Given the description of an element on the screen output the (x, y) to click on. 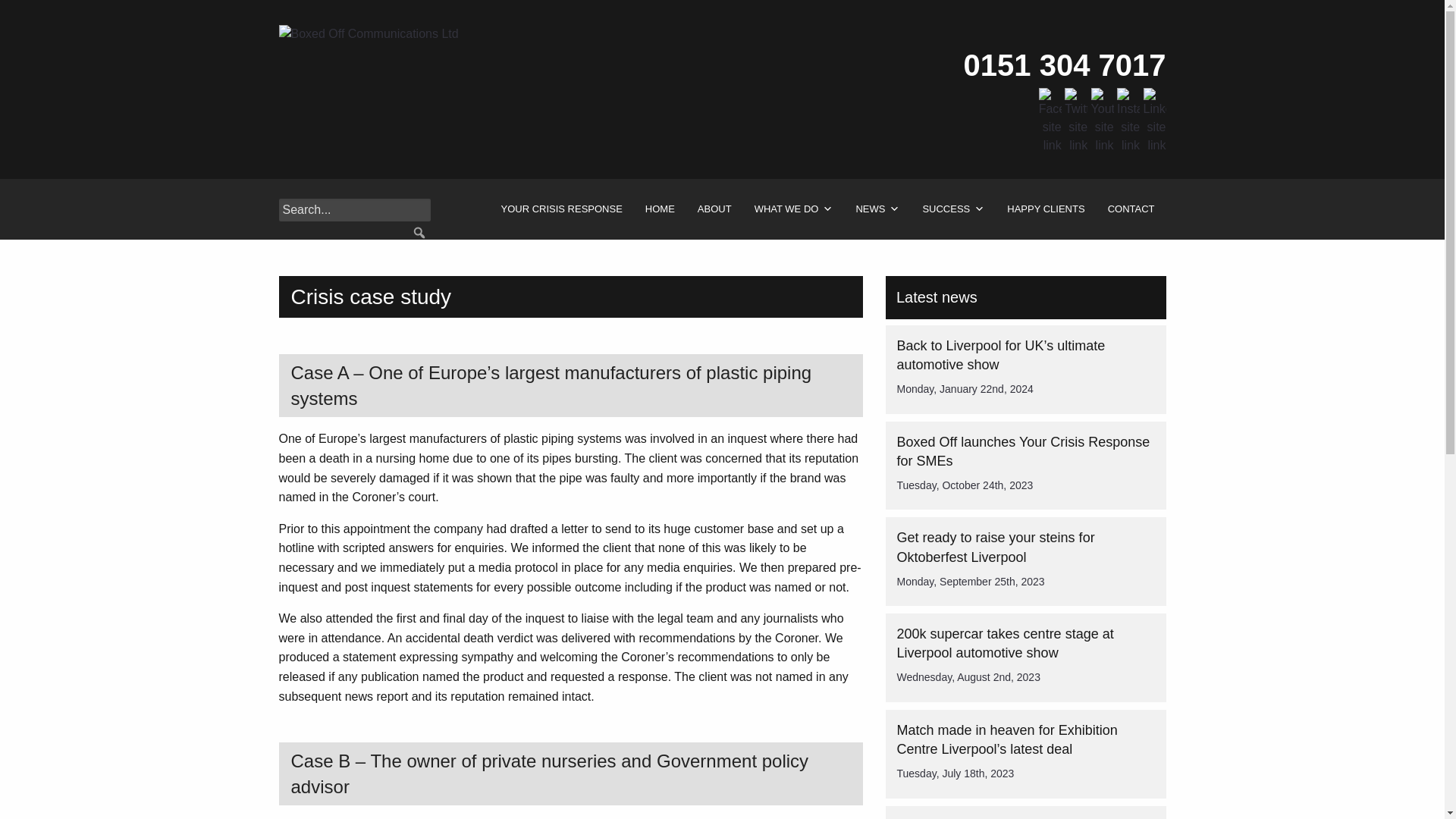
HOME (659, 209)
SUCCESS (953, 209)
HAPPY CLIENTS (1045, 209)
CONTACT (1131, 209)
ABOUT (713, 209)
WHAT WE DO (793, 209)
YOUR CRISIS RESPONSE (561, 209)
NEWS (877, 209)
Search (22, 8)
0151 304 7017 (1064, 64)
